Given the description of an element on the screen output the (x, y) to click on. 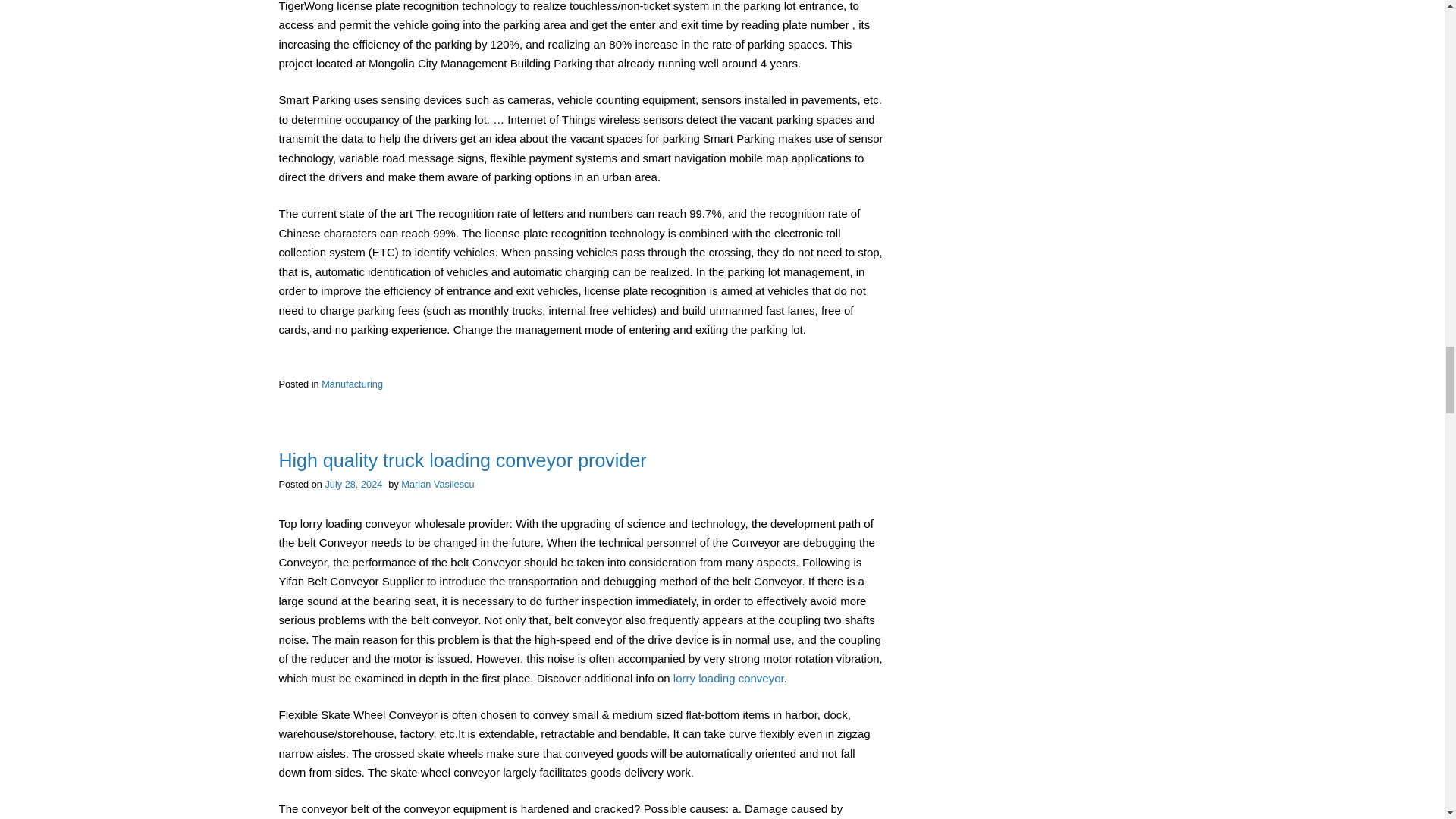
Marian Vasilescu (437, 483)
lorry loading conveyor (728, 677)
July 28, 2024 (352, 483)
High quality truck loading conveyor provider (462, 459)
Manufacturing (351, 383)
